Given the description of an element on the screen output the (x, y) to click on. 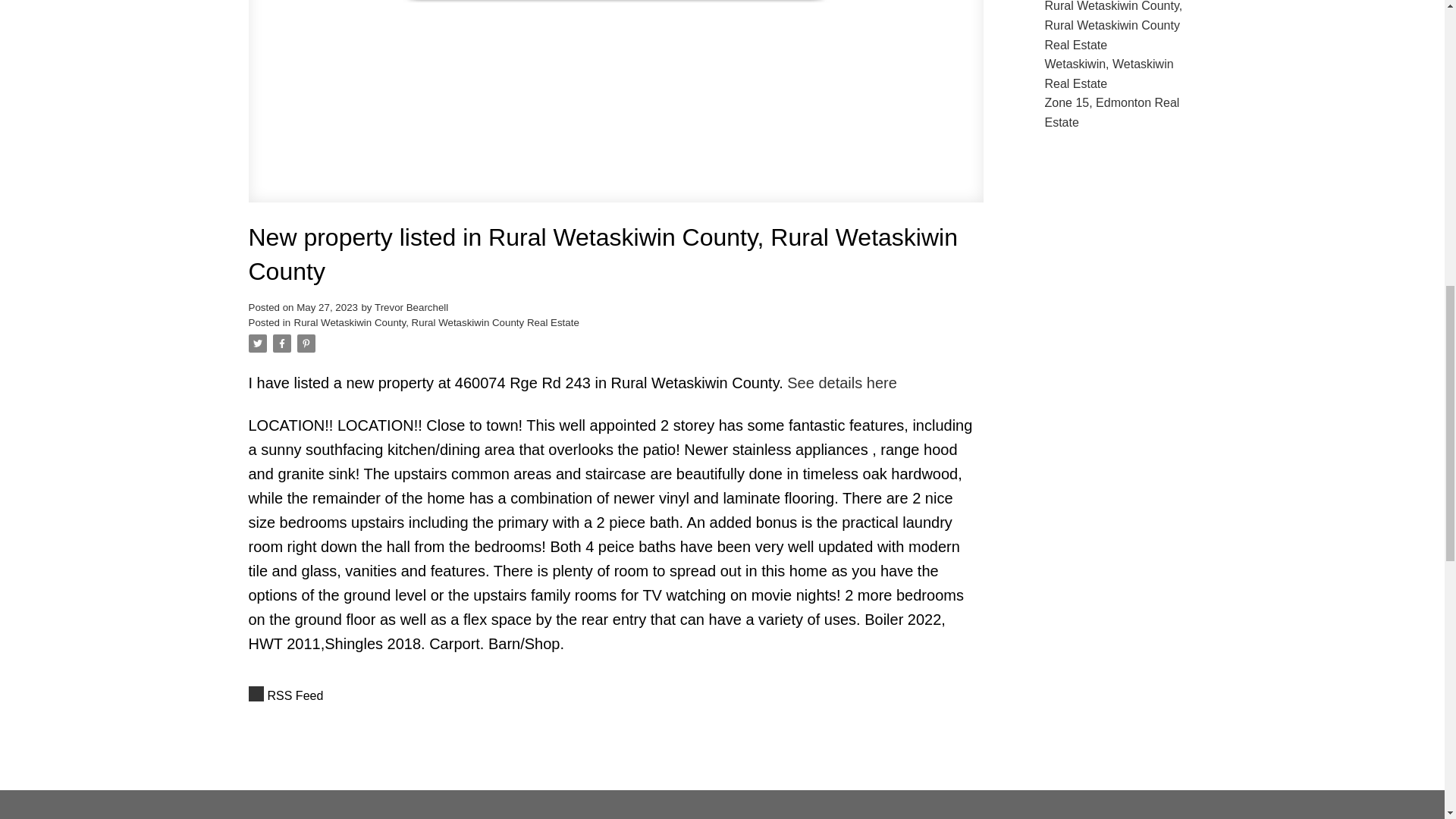
RSS (616, 695)
See details here (841, 382)
Rural Wetaskiwin County, Rural Wetaskiwin County Real Estate (436, 322)
